Given the description of an element on the screen output the (x, y) to click on. 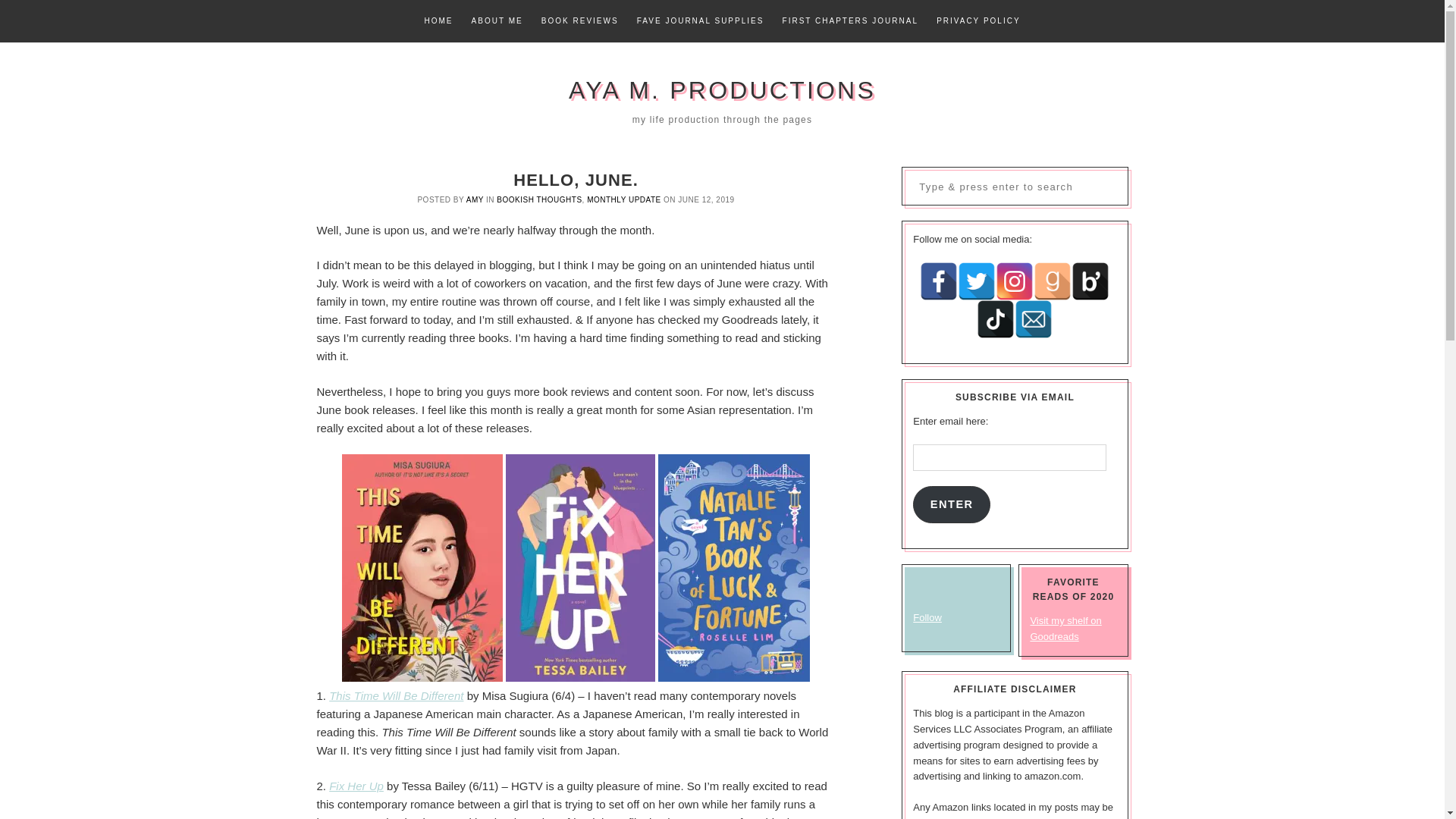
Email (1033, 319)
FAVE JOURNAL SUPPLIES (699, 21)
PRIVACY POLICY (977, 21)
Goodreads (1052, 281)
This Time Will Be Different (396, 695)
BOOK REVIEWS (580, 21)
Fix Her Up (356, 785)
Instagram (1014, 281)
AMY (474, 199)
Search for: (1014, 185)
